Given the description of an element on the screen output the (x, y) to click on. 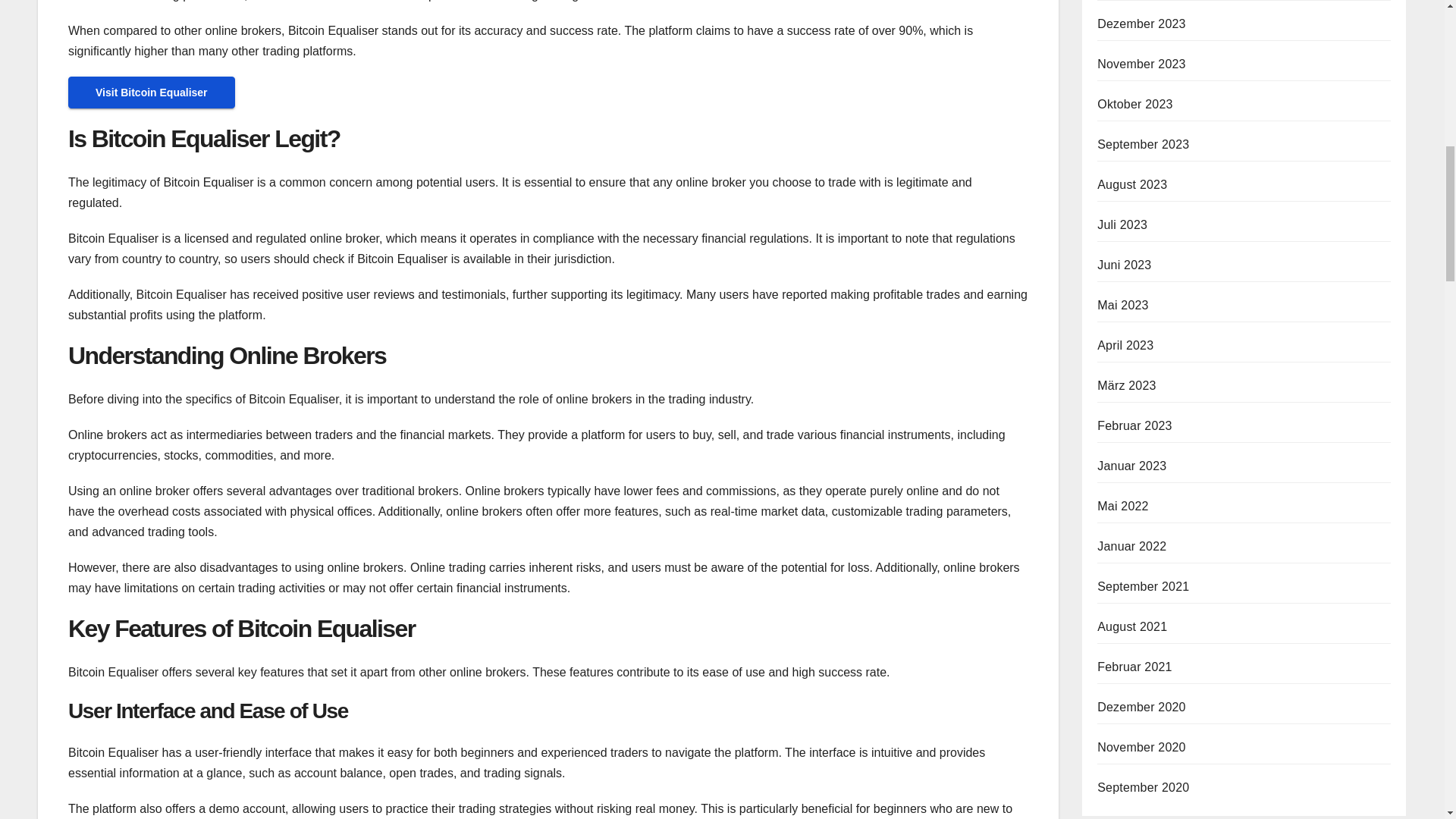
Visit Bitcoin Equaliser (151, 91)
Visit Bitcoin Equaliser (151, 92)
